Given the description of an element on the screen output the (x, y) to click on. 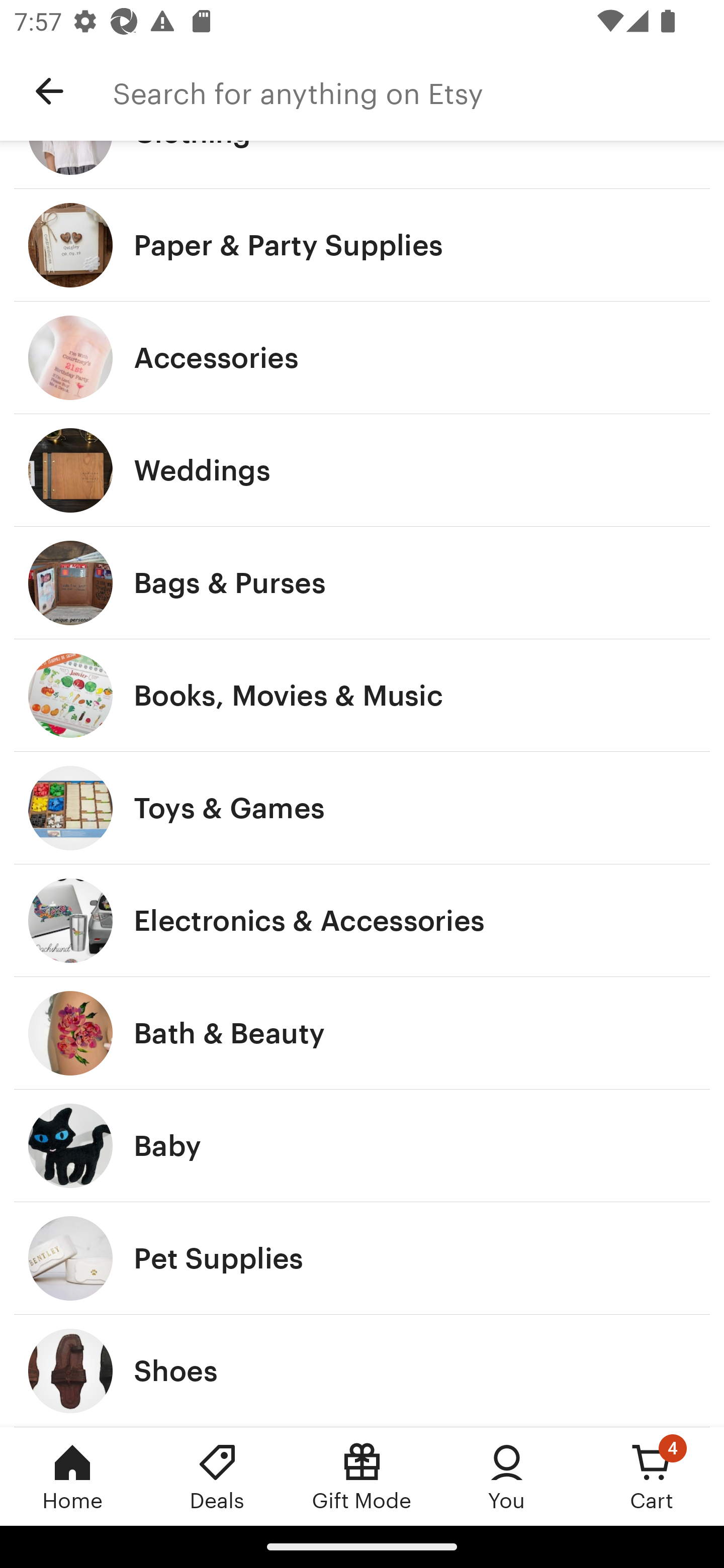
Navigate up (49, 91)
Search for anything on Etsy (418, 91)
Paper & Party Supplies (361, 245)
Accessories (361, 357)
Weddings (361, 469)
Bags & Purses (361, 582)
Books, Movies & Music (361, 695)
Toys & Games (361, 807)
Electronics & Accessories (361, 919)
Bath & Beauty (361, 1032)
Baby (361, 1145)
Pet Supplies (361, 1257)
Shoes (361, 1369)
Deals (216, 1475)
Gift Mode (361, 1475)
You (506, 1475)
Cart, 4 new notifications Cart (651, 1475)
